Given the description of an element on the screen output the (x, y) to click on. 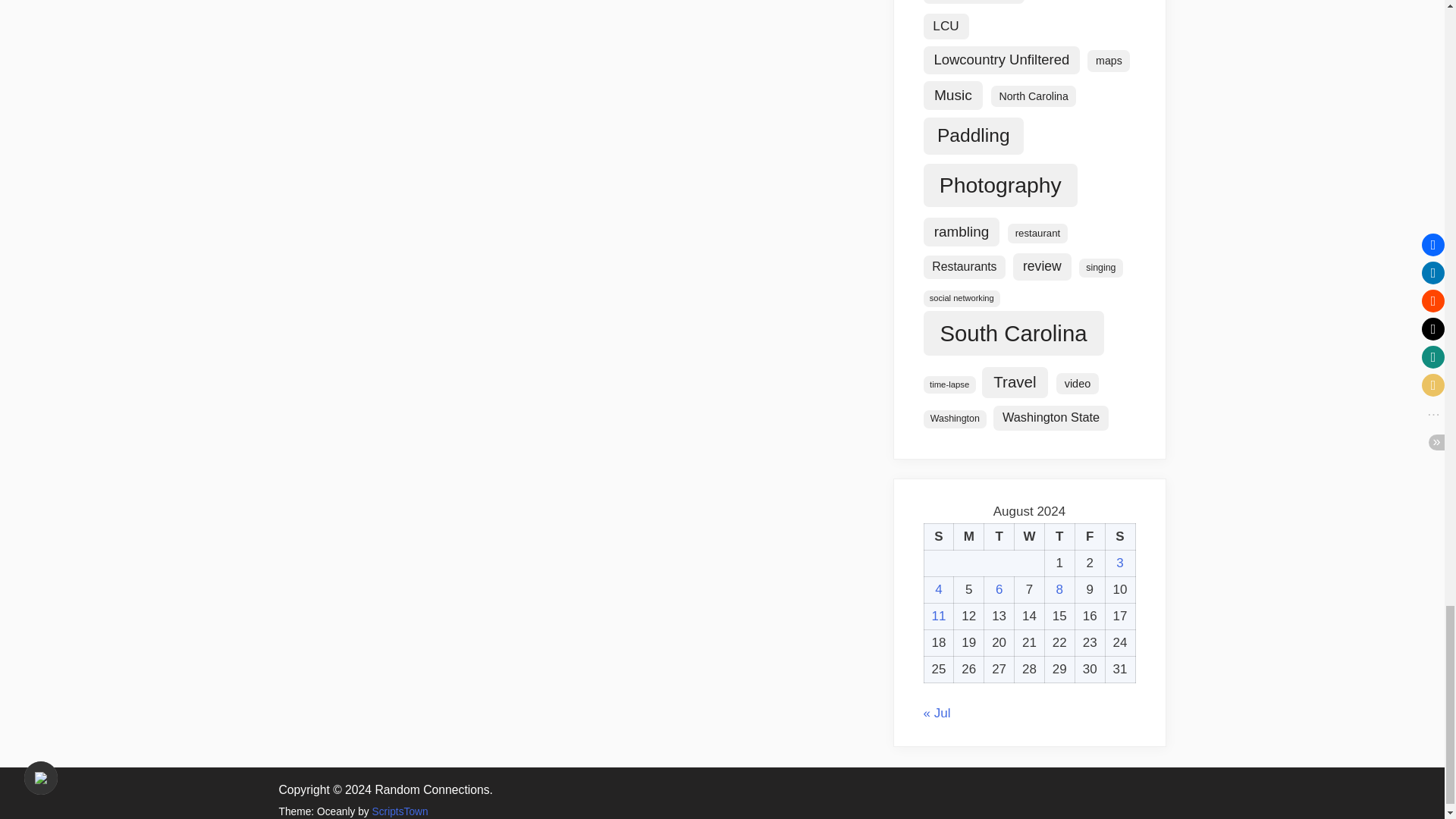
Monday (968, 537)
Tuesday (999, 537)
Friday (1089, 537)
Thursday (1058, 537)
Wednesday (1029, 537)
Saturday (1120, 537)
Sunday (938, 537)
